Given the description of an element on the screen output the (x, y) to click on. 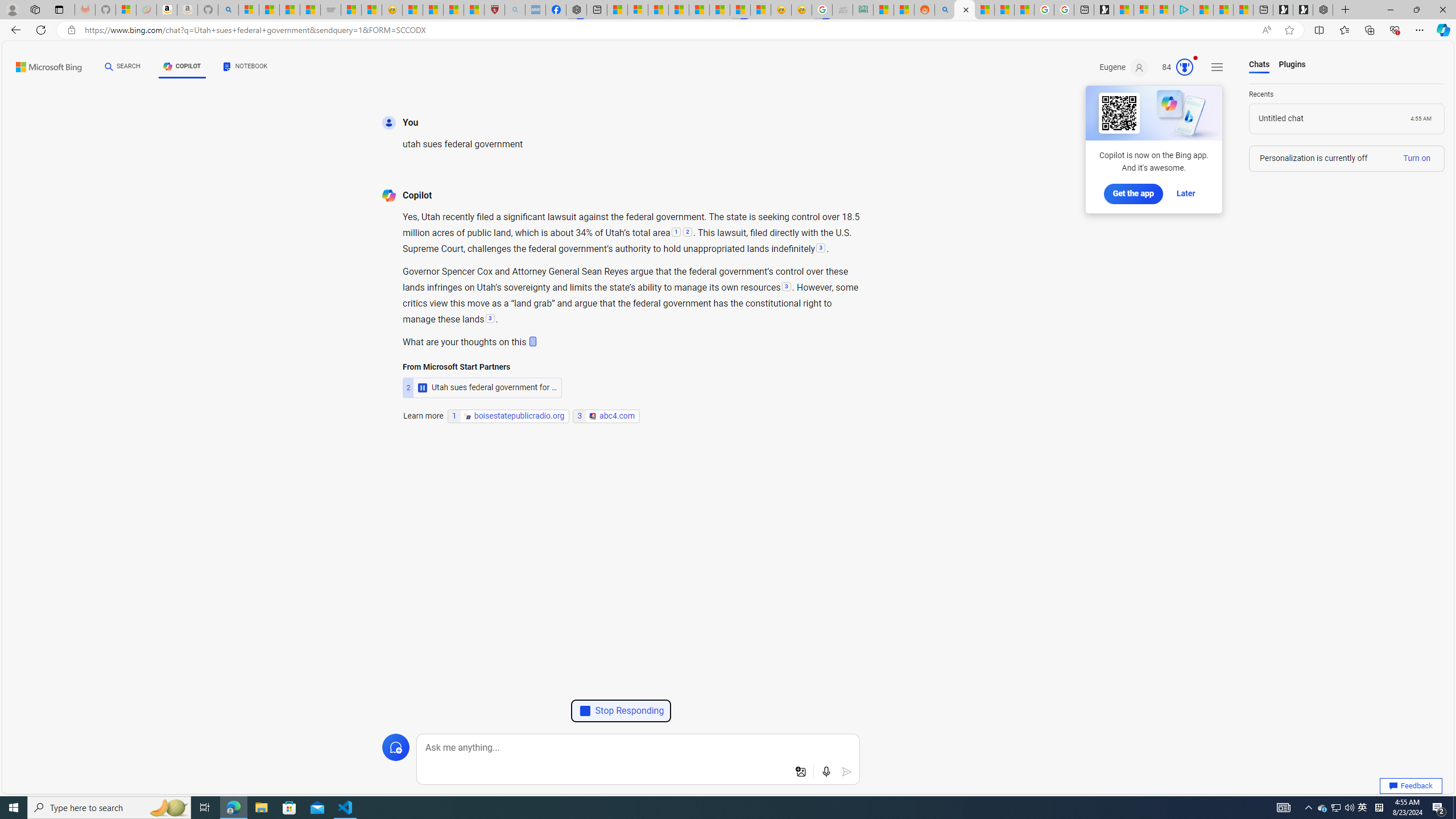
COPILOT (181, 68)
Use microphone (826, 771)
Microsoft Copilot in Bing (964, 9)
COPILOT (181, 66)
